Given the description of an element on the screen output the (x, y) to click on. 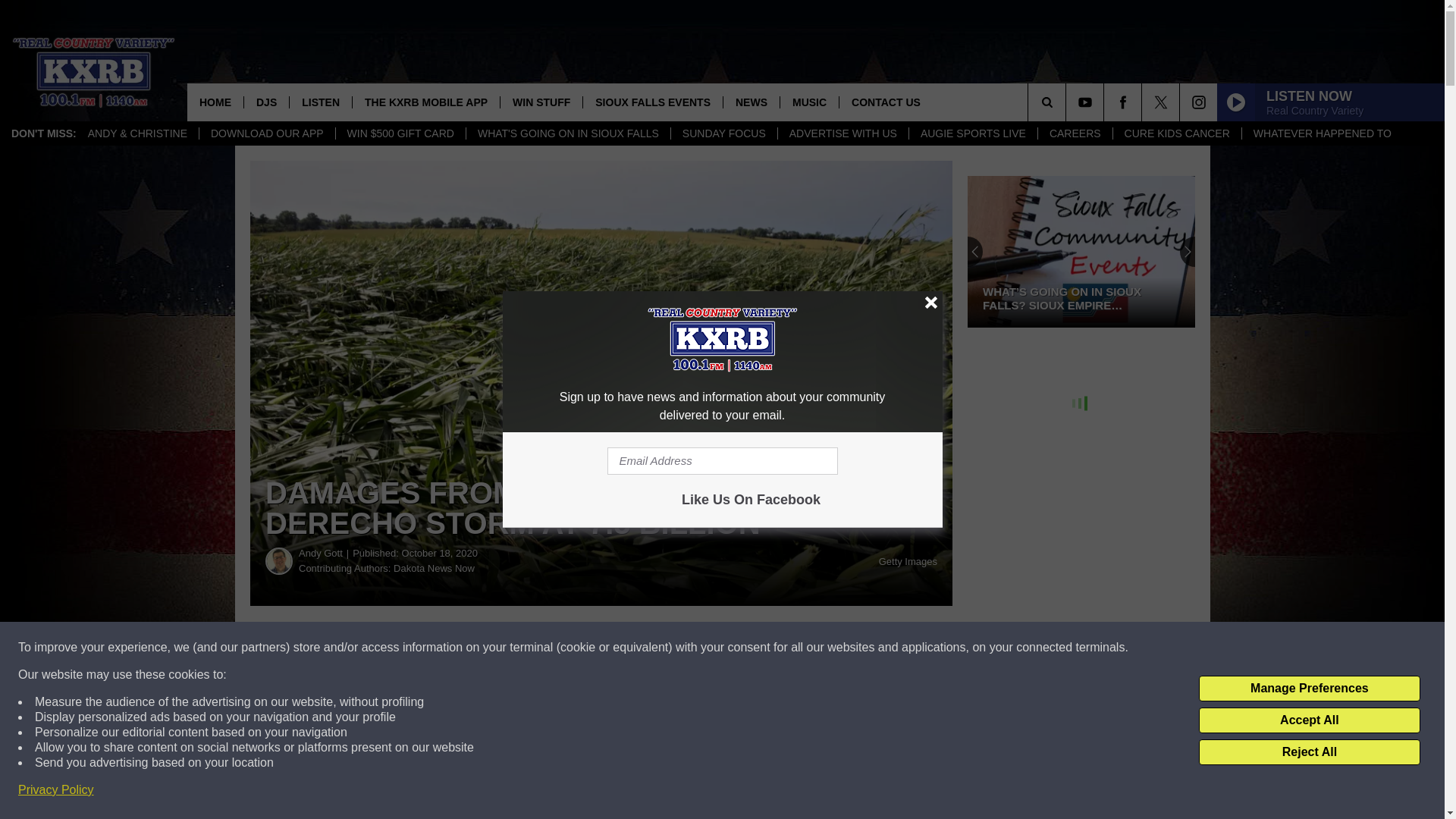
SEARCH (1068, 102)
Reject All (1309, 751)
Manage Preferences (1309, 688)
CAREERS (1074, 133)
HOME (215, 102)
CURE KIDS CANCER (1176, 133)
Accept All (1309, 720)
LISTEN (320, 102)
DOWNLOAD OUR APP (266, 133)
Share on Facebook (460, 647)
Privacy Policy (55, 789)
WHATEVER HAPPENED TO (1322, 133)
AUGIE SPORTS LIVE (972, 133)
THE KXRB MOBILE APP (425, 102)
Share on Twitter (741, 647)
